Given the description of an element on the screen output the (x, y) to click on. 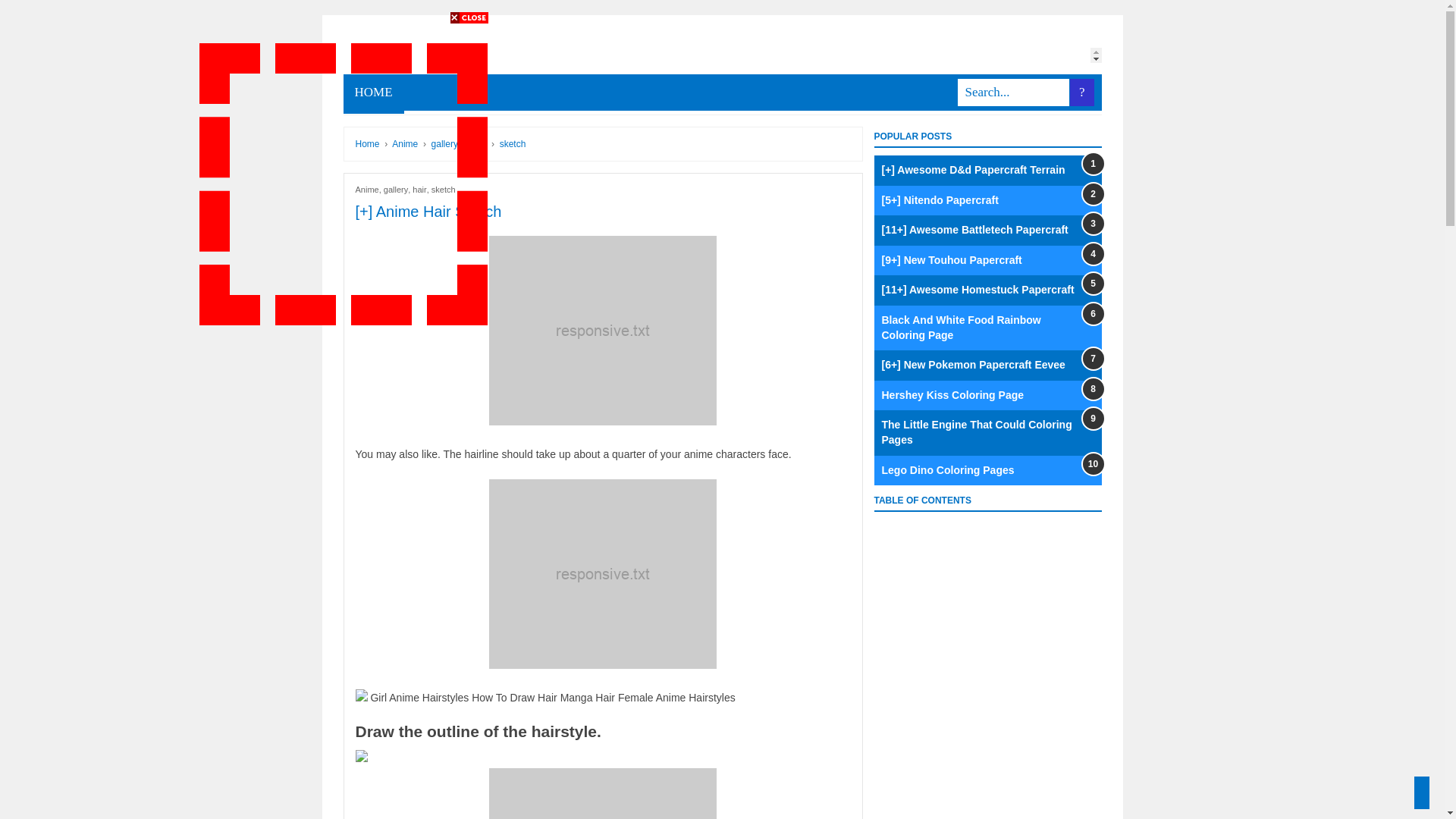
sketch (442, 189)
Home (366, 143)
gallery (445, 143)
Anime (405, 143)
sketch (512, 143)
Home (366, 143)
Advertisement (563, 99)
Advertisement (343, 184)
Anime (366, 189)
gallery (445, 143)
gallery (395, 189)
sketch (512, 143)
hair (478, 143)
Anime (405, 143)
hair (419, 189)
